Given the description of an element on the screen output the (x, y) to click on. 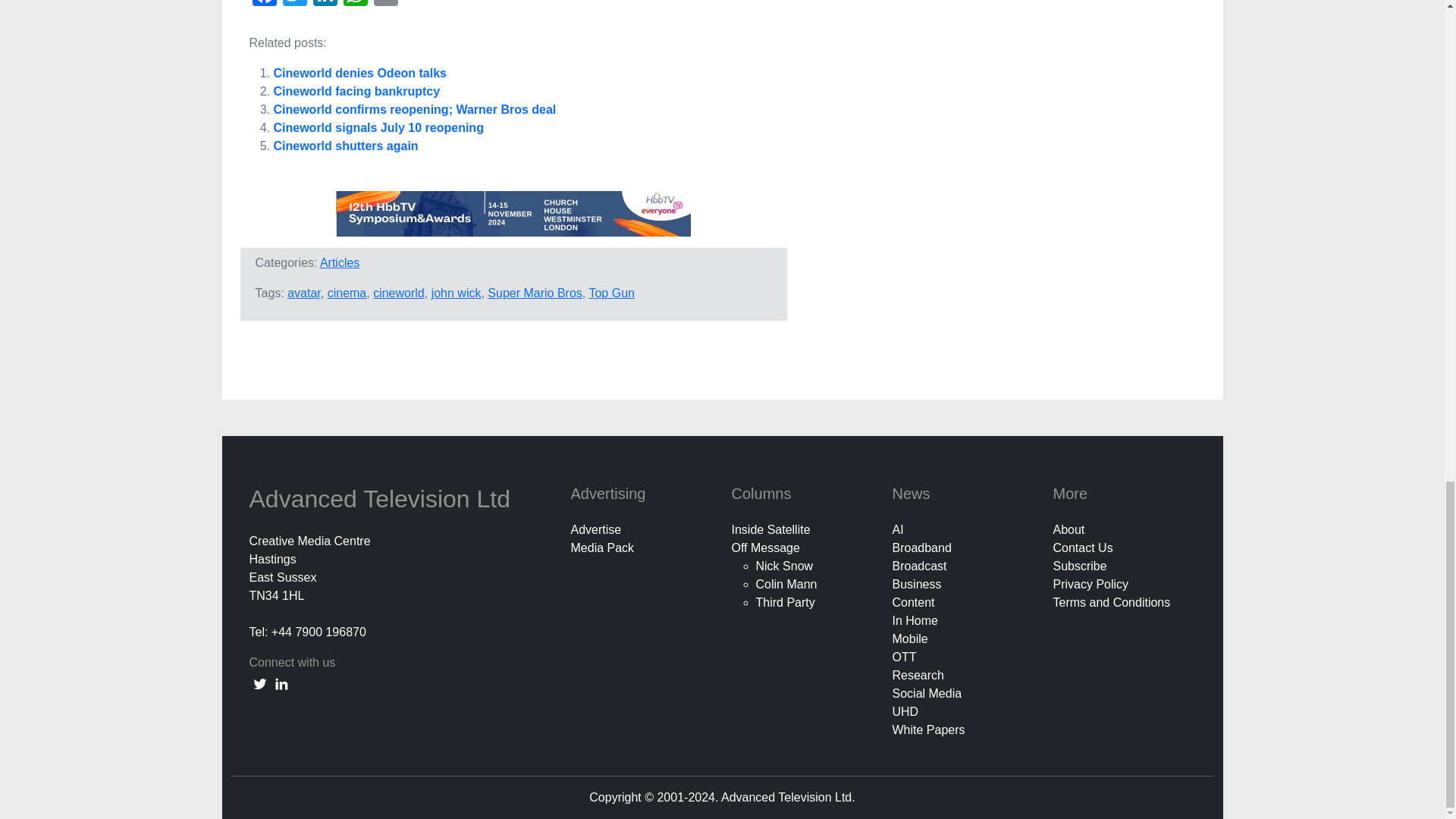
Cineworld shutters again (345, 145)
Cineworld signals July 10 reopening (378, 127)
cineworld (398, 292)
Cineworld facing bankruptcy (356, 91)
WhatsApp (354, 4)
Twitter (293, 4)
Facebook (263, 4)
LinkedIn (323, 4)
Email (384, 4)
Cineworld denies Odeon talks (359, 72)
Twitter (293, 4)
LinkedIn (323, 4)
john wick (455, 292)
Cineworld facing bankruptcy (356, 91)
Articles (339, 262)
